Given the description of an element on the screen output the (x, y) to click on. 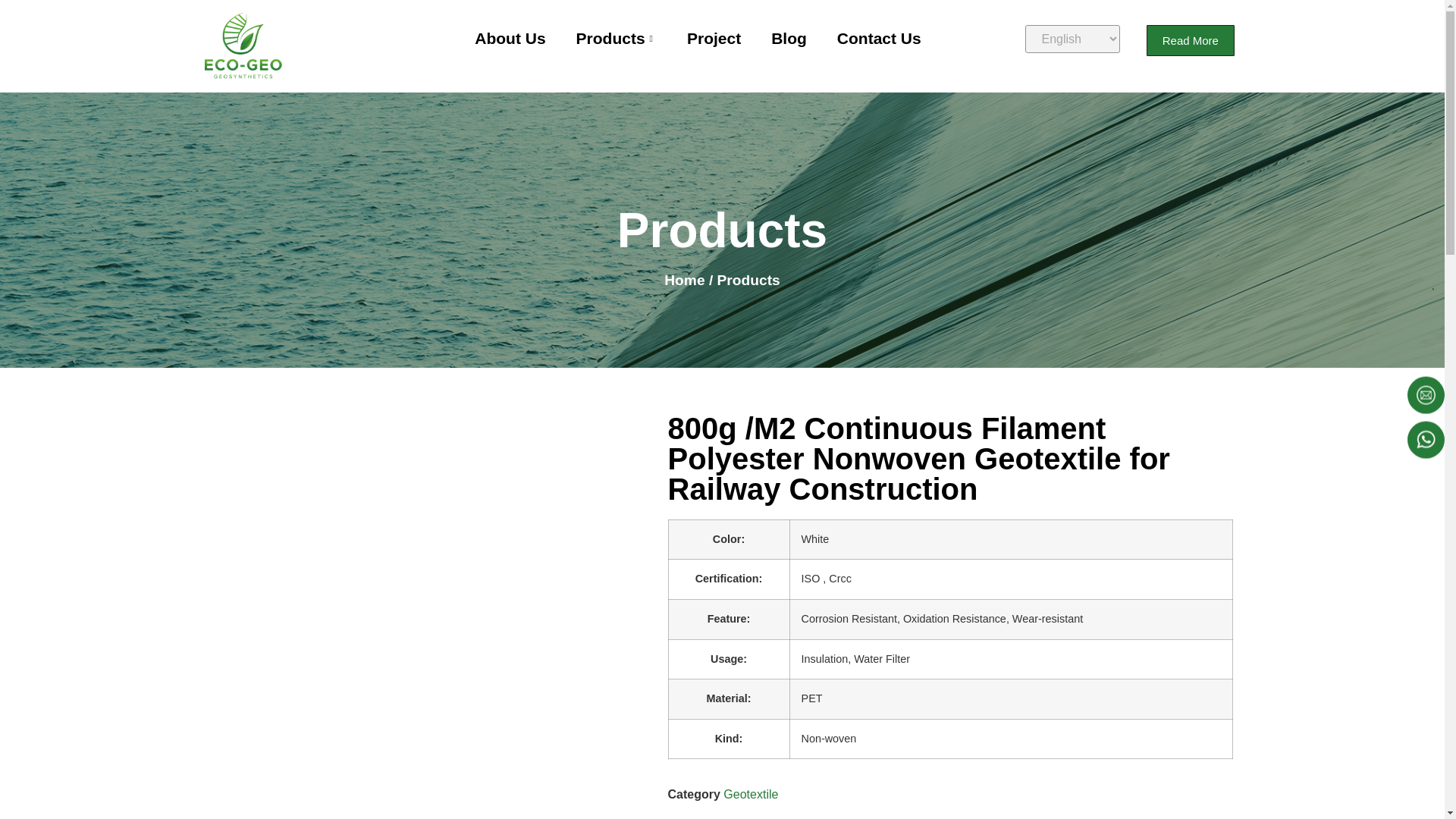
Products (615, 38)
About Us (510, 38)
Blog (788, 38)
Contact Us (879, 38)
Project (713, 38)
